Given the description of an element on the screen output the (x, y) to click on. 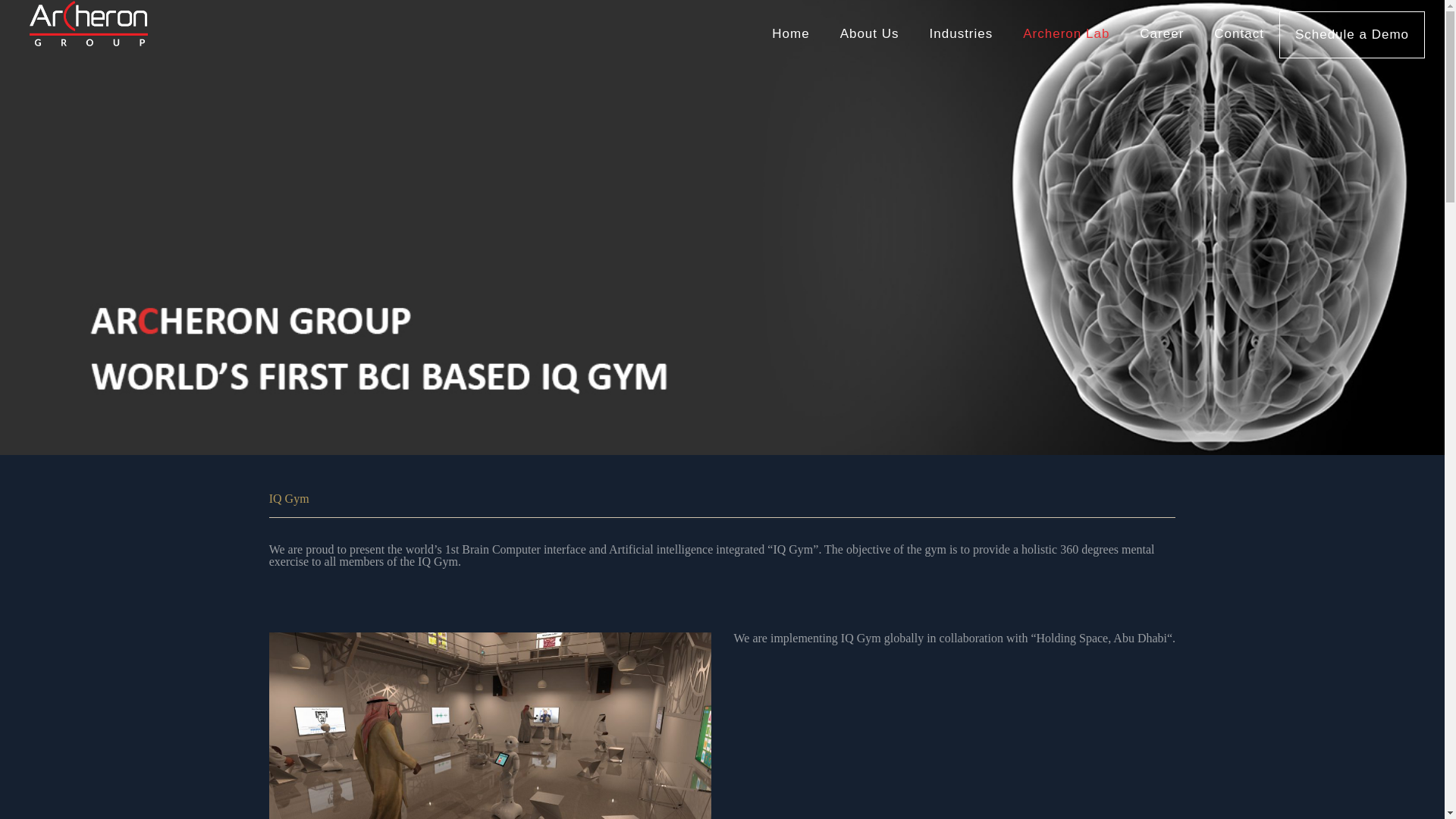
Industries (961, 33)
Archeron Group (88, 22)
Career (1161, 33)
Archeron Lab (1065, 33)
Home (790, 33)
About Us (869, 33)
